Given the description of an element on the screen output the (x, y) to click on. 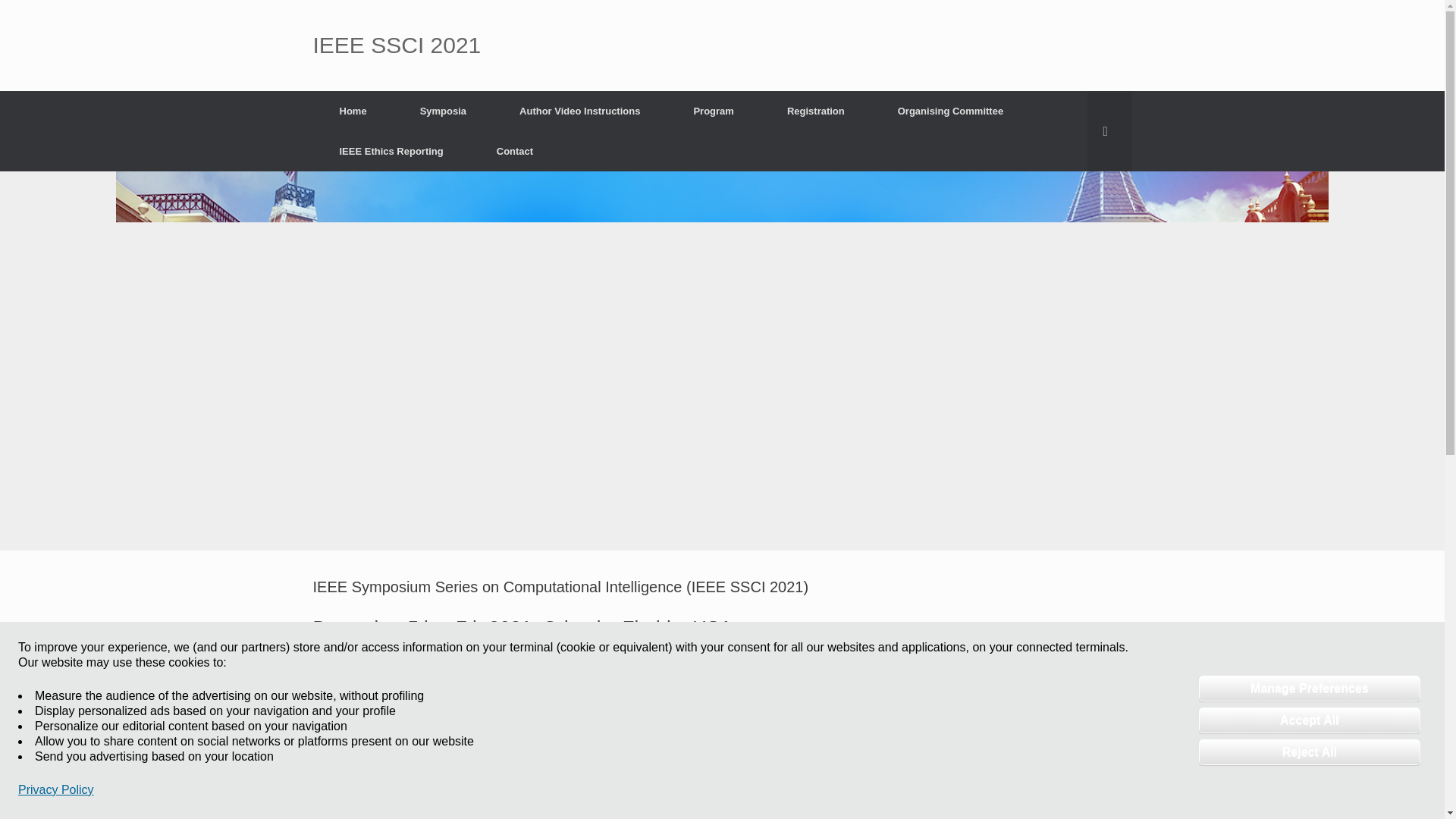
Symposia (443, 110)
Home (353, 110)
IEEE SSCI 2021 (396, 45)
Program (713, 110)
Click here (546, 672)
Registration (815, 110)
IEEE Ethics Reporting (390, 151)
Reject All (1309, 751)
Page 1 (722, 741)
Accept All (1309, 720)
